Given the description of an element on the screen output the (x, y) to click on. 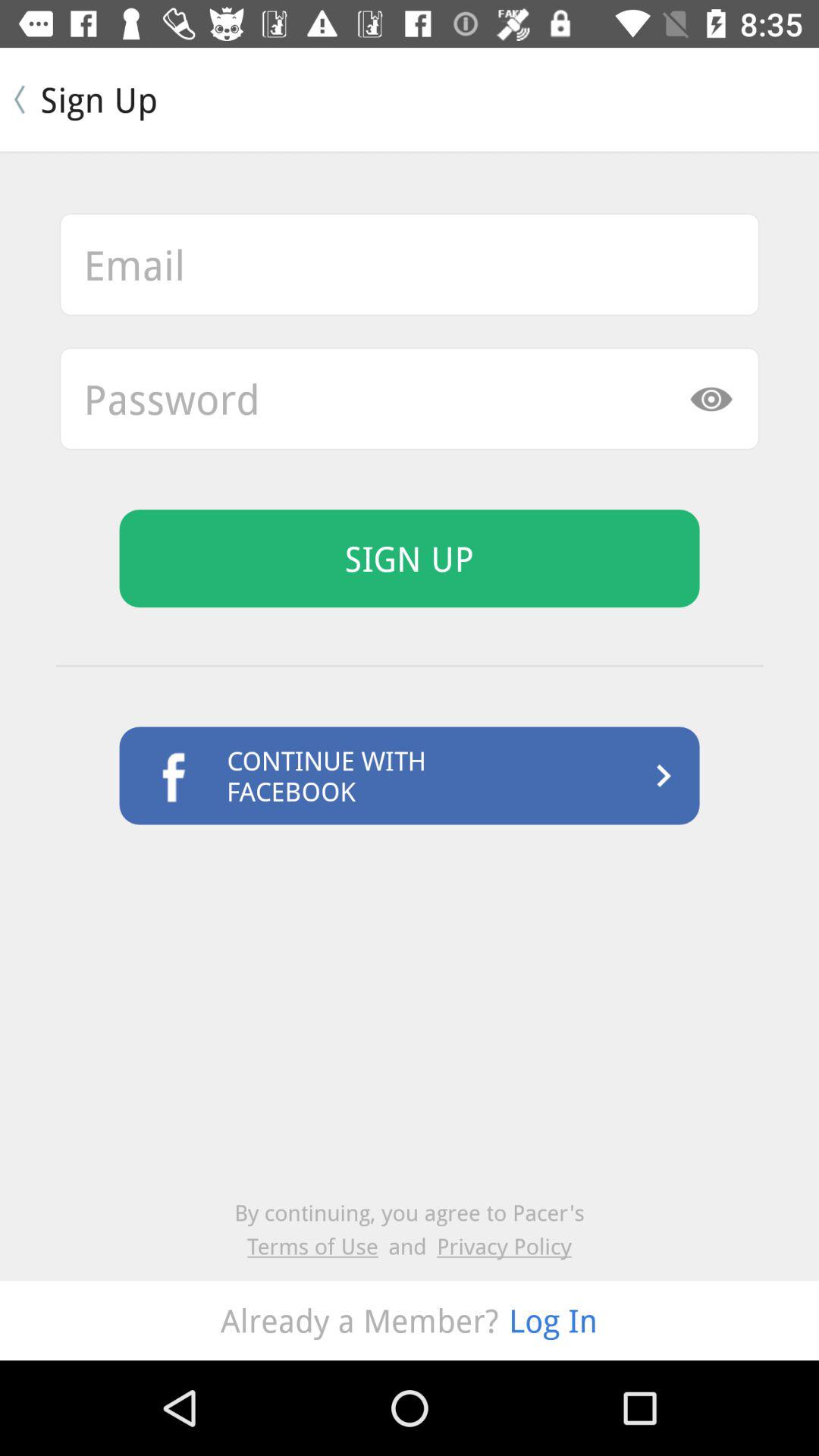
enter email address to login (409, 264)
